Given the description of an element on the screen output the (x, y) to click on. 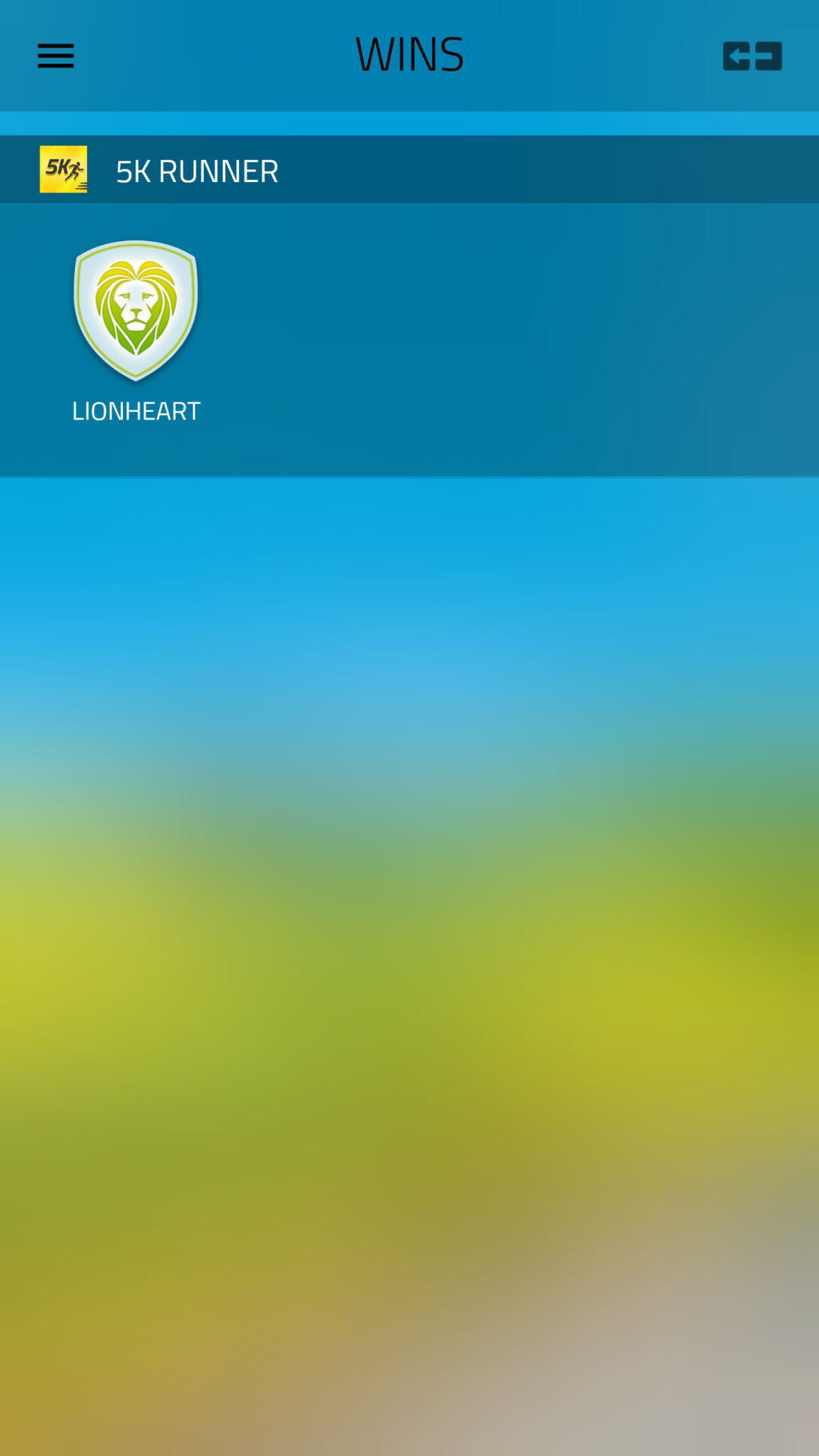
turn off the icon to the left of the wins (61, 55)
